Given the description of an element on the screen output the (x, y) to click on. 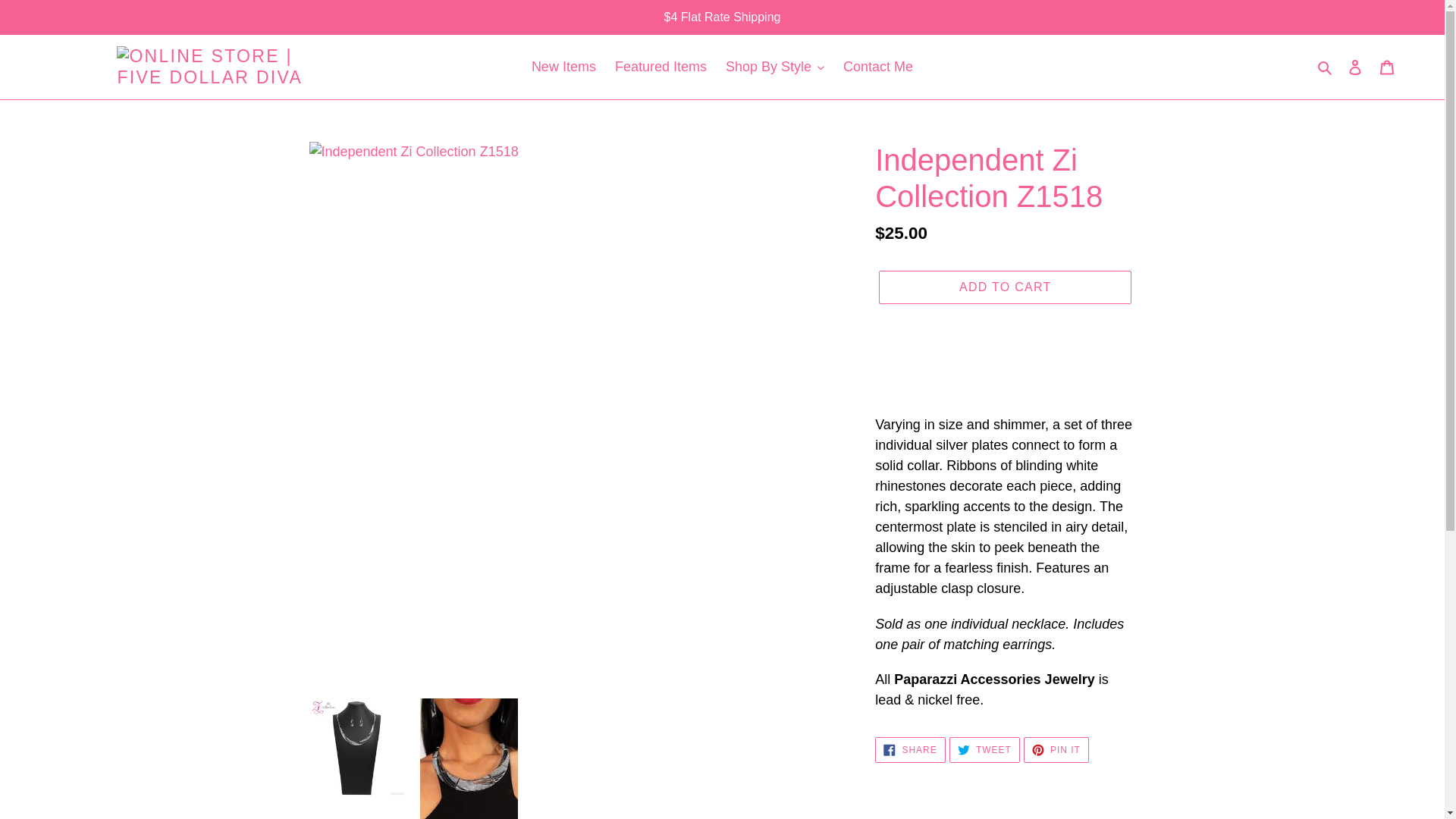
Contact Me (877, 66)
New Items (564, 66)
Featured Items (660, 66)
Search (1326, 66)
Shop By Style (774, 66)
